Given the description of an element on the screen output the (x, y) to click on. 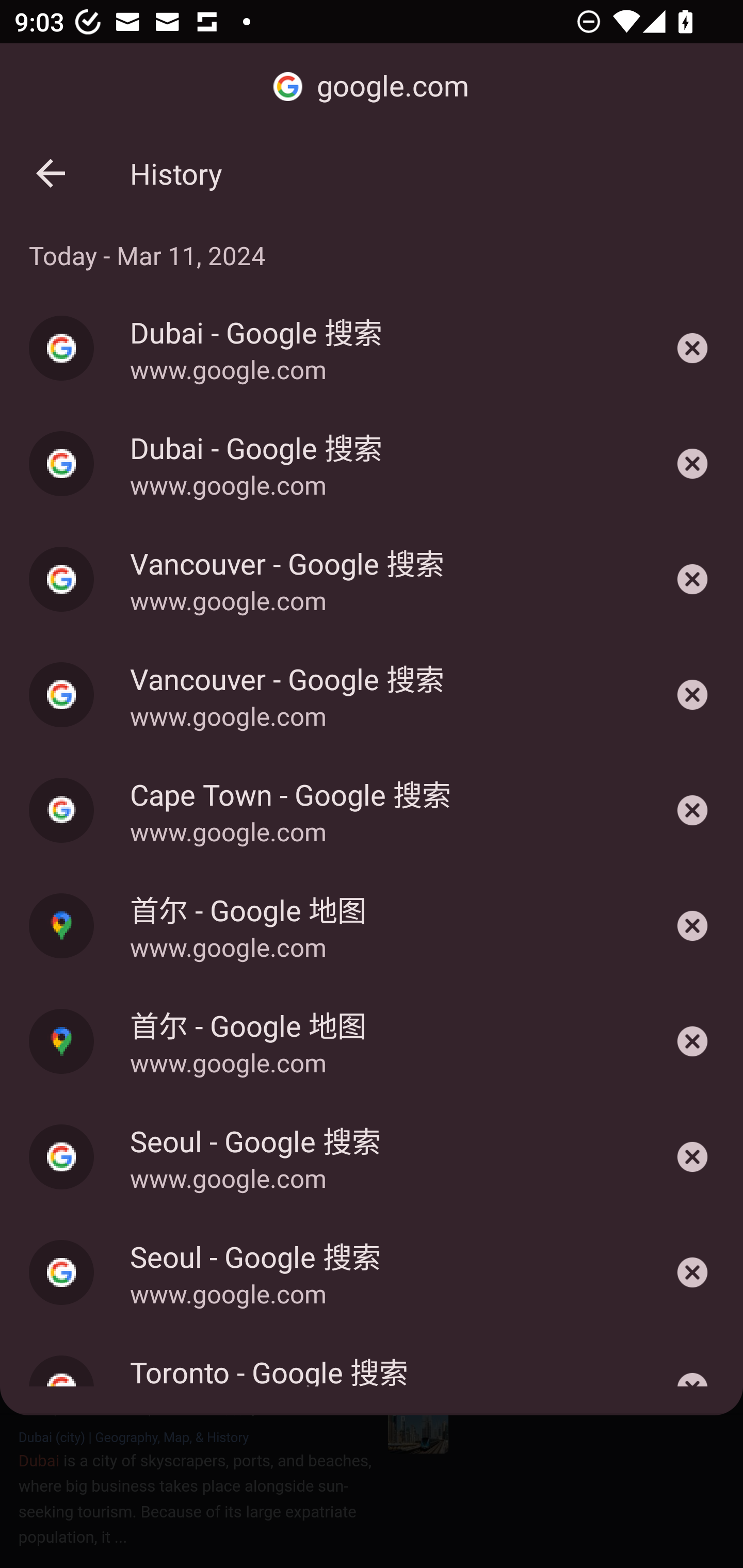
google.com (371, 86)
Back (50, 173)
Dubai - Google 搜索 Remove (692, 348)
Dubai - Google 搜索 Remove (692, 464)
Vancouver - Google 搜索 Remove (692, 579)
Vancouver - Google 搜索 Remove (692, 694)
Cape Town - Google 搜索 Remove (692, 810)
首尔 - Google 地图 Remove (692, 925)
首尔 - Google 地图 Remove (692, 1041)
Seoul - Google 搜索 Remove (692, 1157)
Seoul - Google 搜索 Remove (692, 1272)
Toronto - Google 搜索 Toronto - Google 搜索 Remove (371, 1372)
Toronto - Google 搜索 Remove (692, 1372)
